Given the description of an element on the screen output the (x, y) to click on. 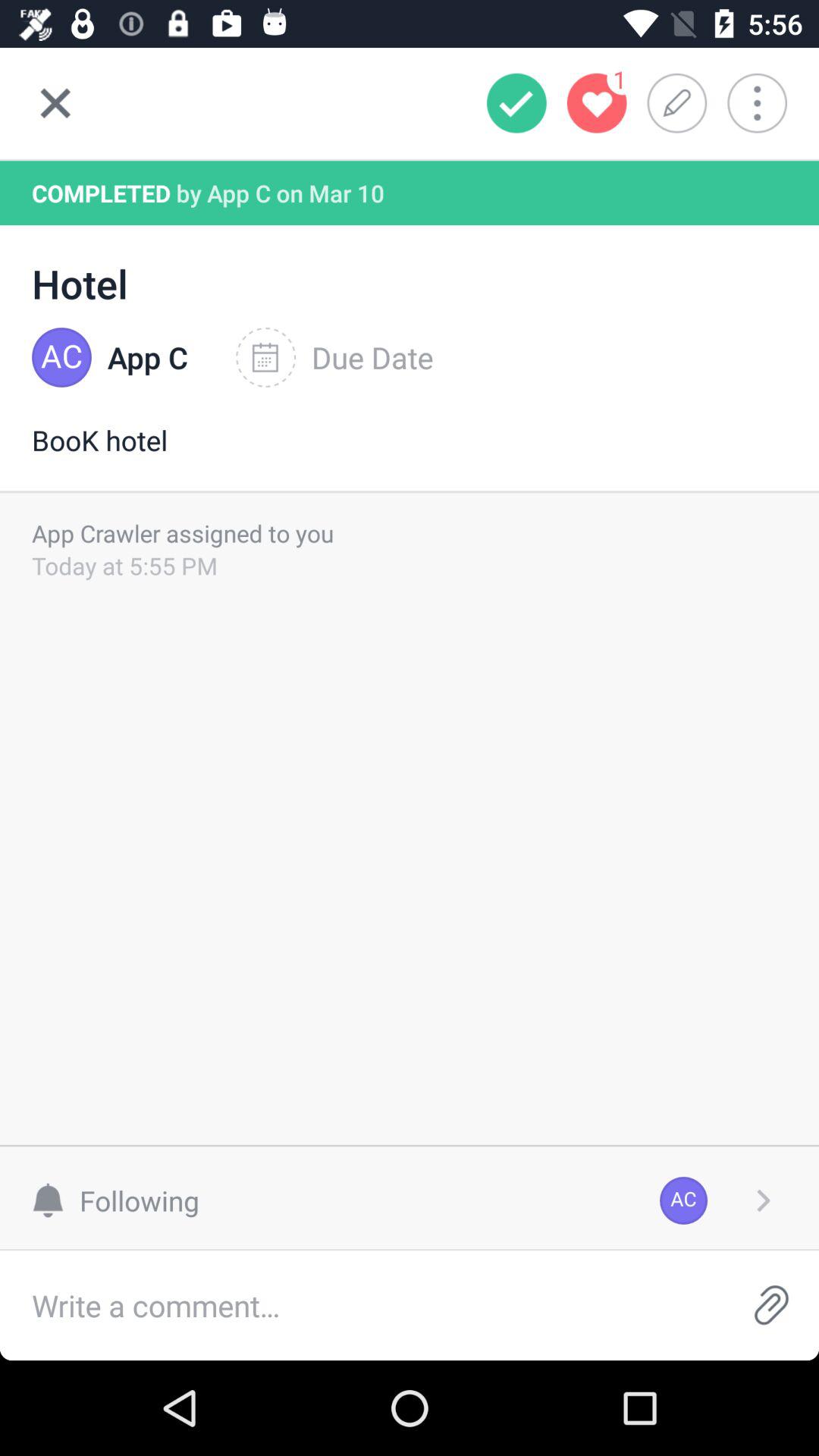
turn on icon below the hotel (334, 357)
